Given the description of an element on the screen output the (x, y) to click on. 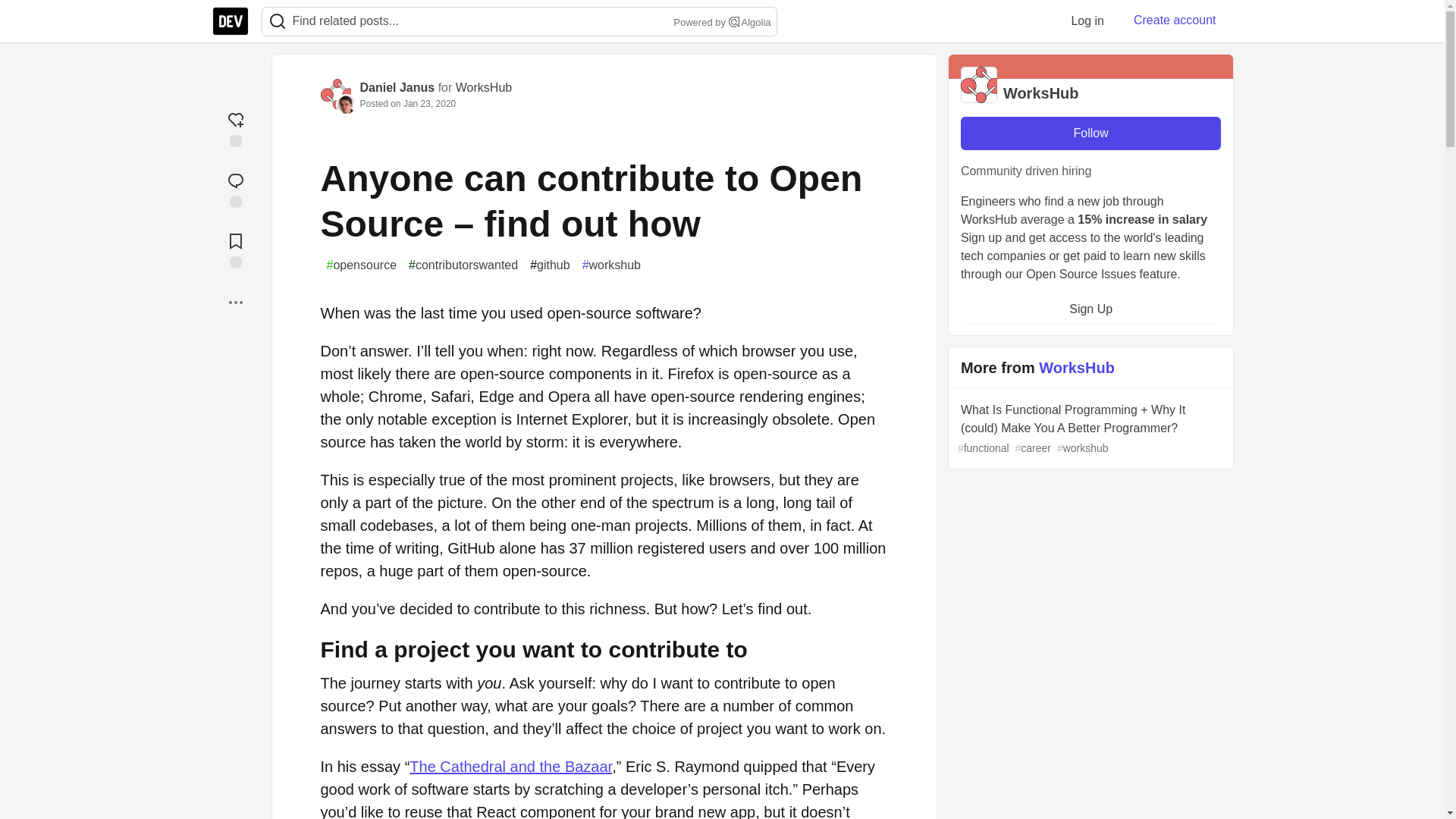
Create account (1174, 20)
Search (734, 21)
Search (276, 21)
Daniel Janus (396, 87)
More... (234, 302)
The Cathedral and the Bazaar (510, 766)
Powered by Search Algolia (720, 22)
WorksHub (483, 87)
More... (234, 302)
Log in (1087, 20)
Search (277, 21)
